Given the description of an element on the screen output the (x, y) to click on. 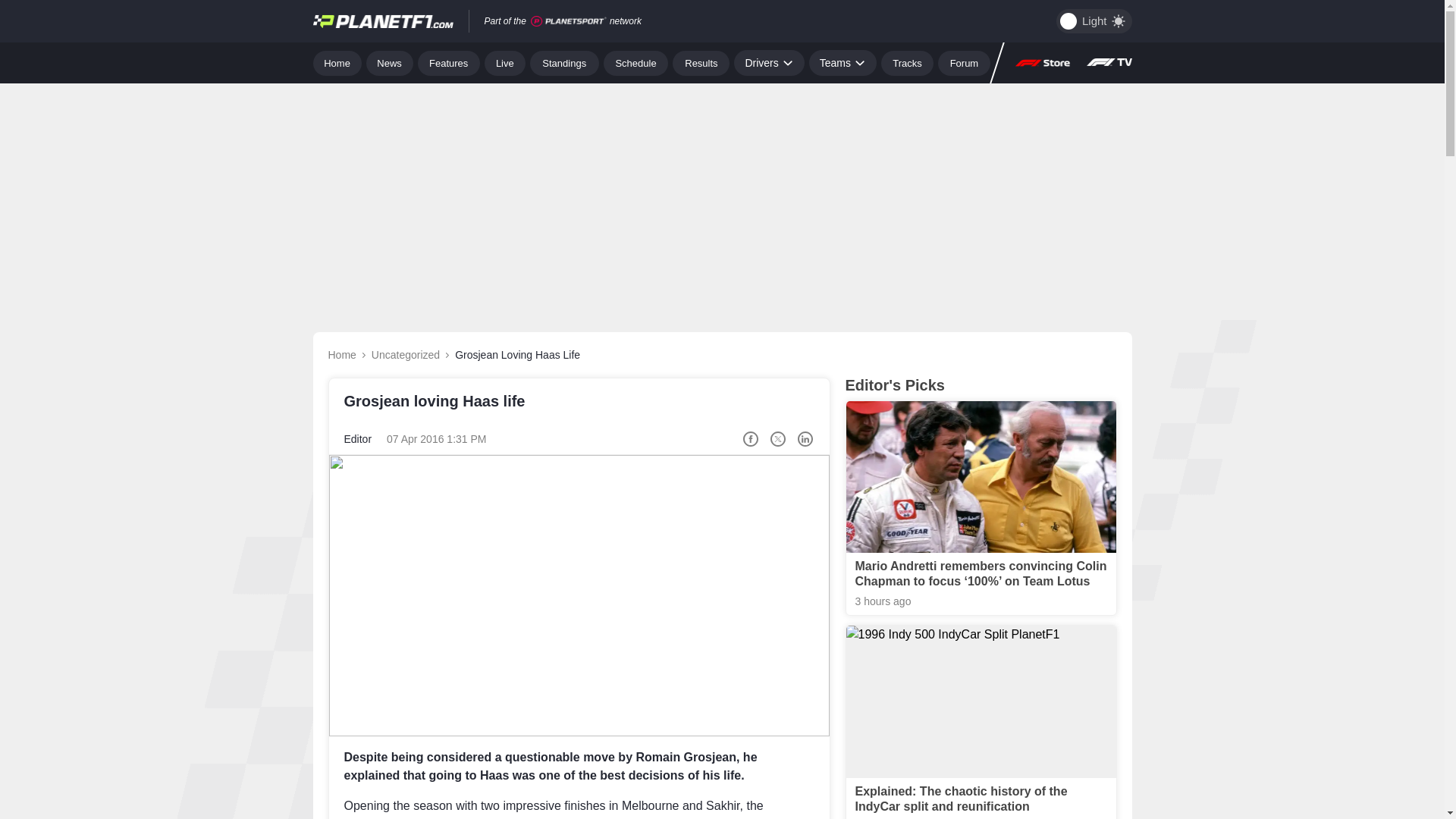
Drivers (768, 62)
Home (337, 62)
Standings (563, 62)
Live (504, 62)
Teams (842, 62)
Results (700, 62)
Schedule (636, 62)
News (389, 62)
Features (448, 62)
